Given the description of an element on the screen output the (x, y) to click on. 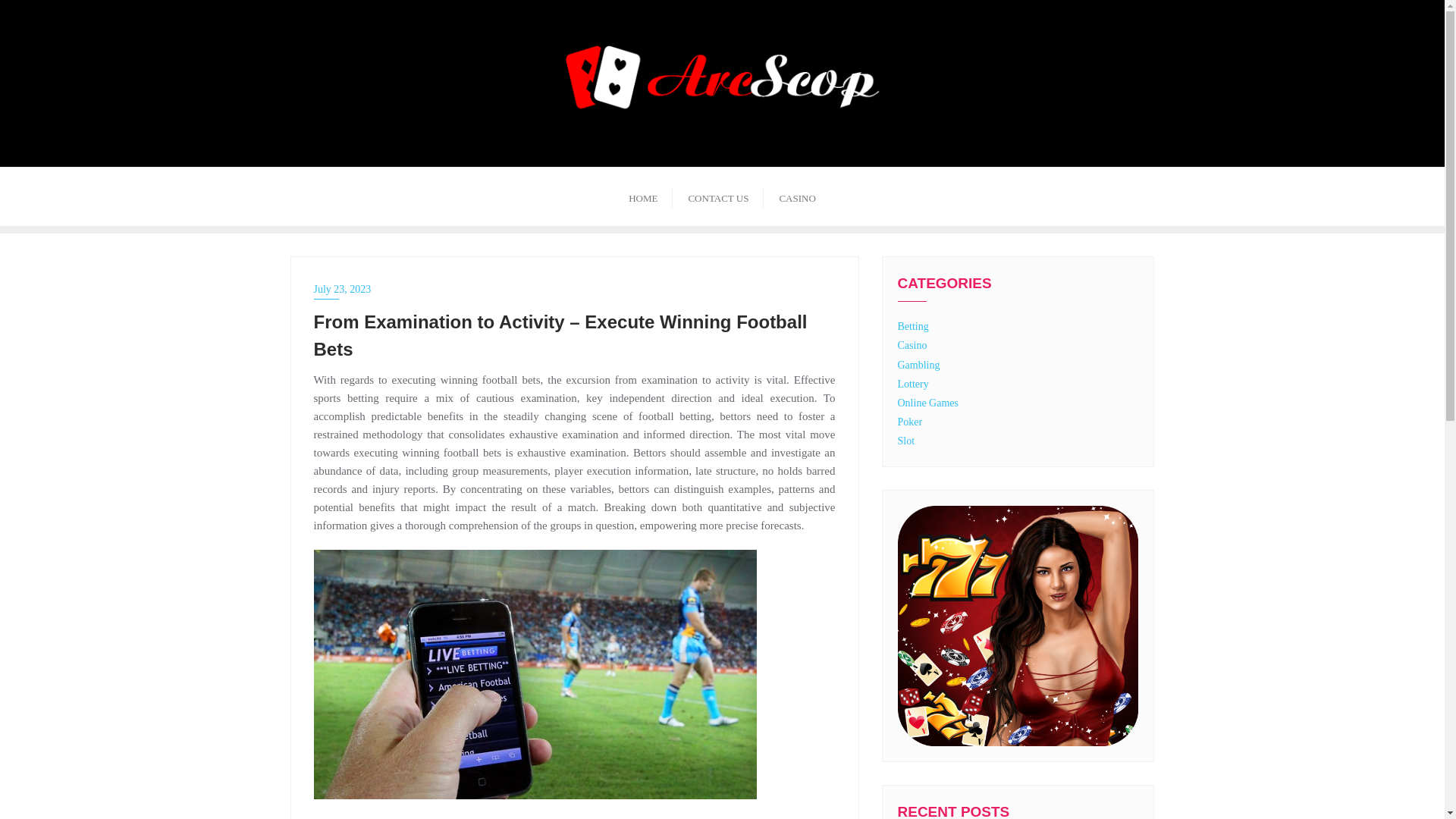
Casino (912, 345)
Online Games (928, 402)
Poker (910, 421)
CONTACT US (717, 196)
Lottery (913, 383)
Slot (906, 440)
HOME (642, 196)
Gambling (919, 365)
Betting (913, 326)
July 23, 2023 (574, 289)
CASINO (795, 196)
